Given the description of an element on the screen output the (x, y) to click on. 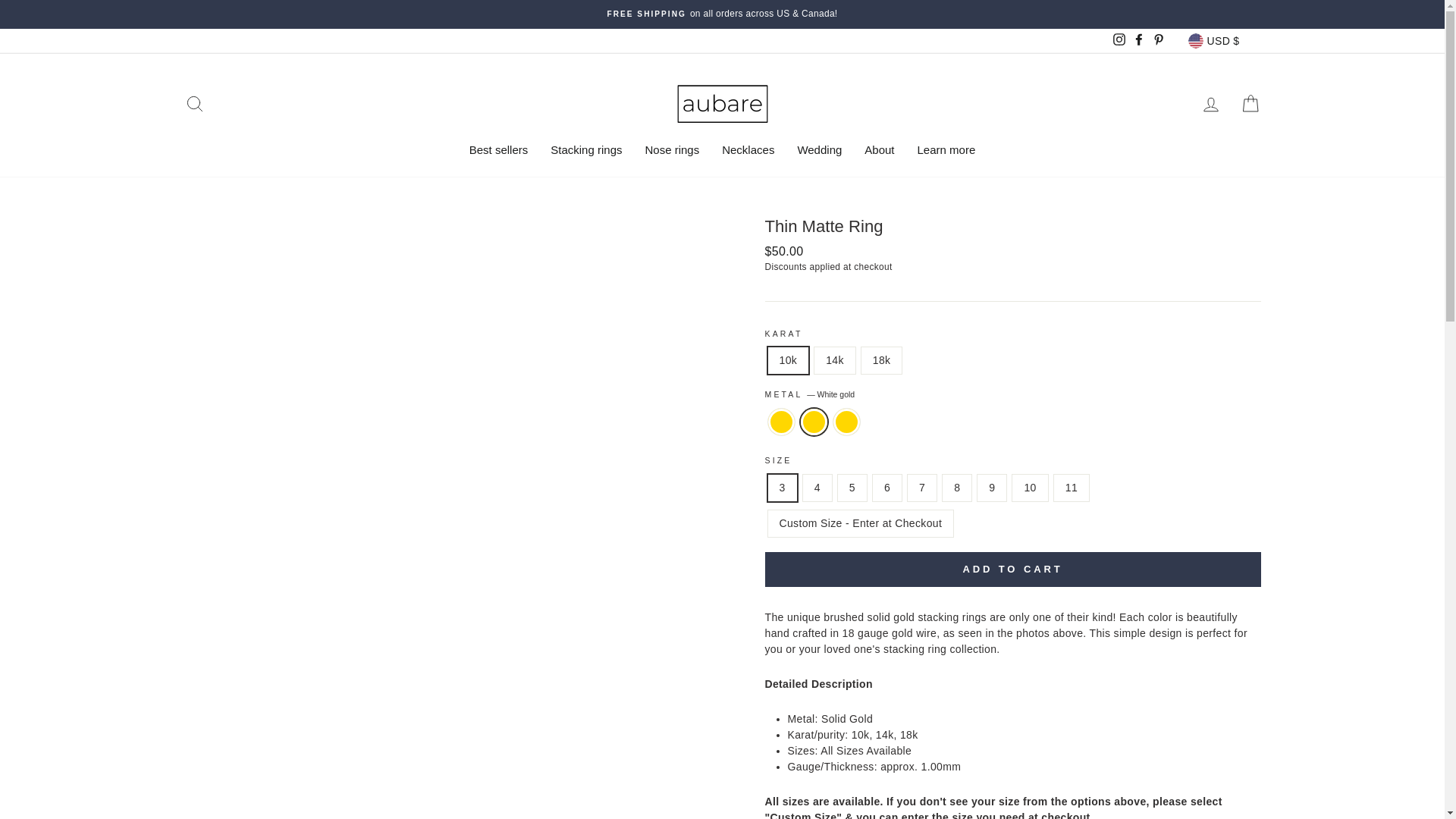
Learn more (946, 149)
Nose rings (671, 149)
Log in (1210, 102)
Cart (1249, 102)
Best sellers (499, 149)
Search (194, 102)
Stacking rings (585, 149)
Facebook (1138, 40)
